Given the description of an element on the screen output the (x, y) to click on. 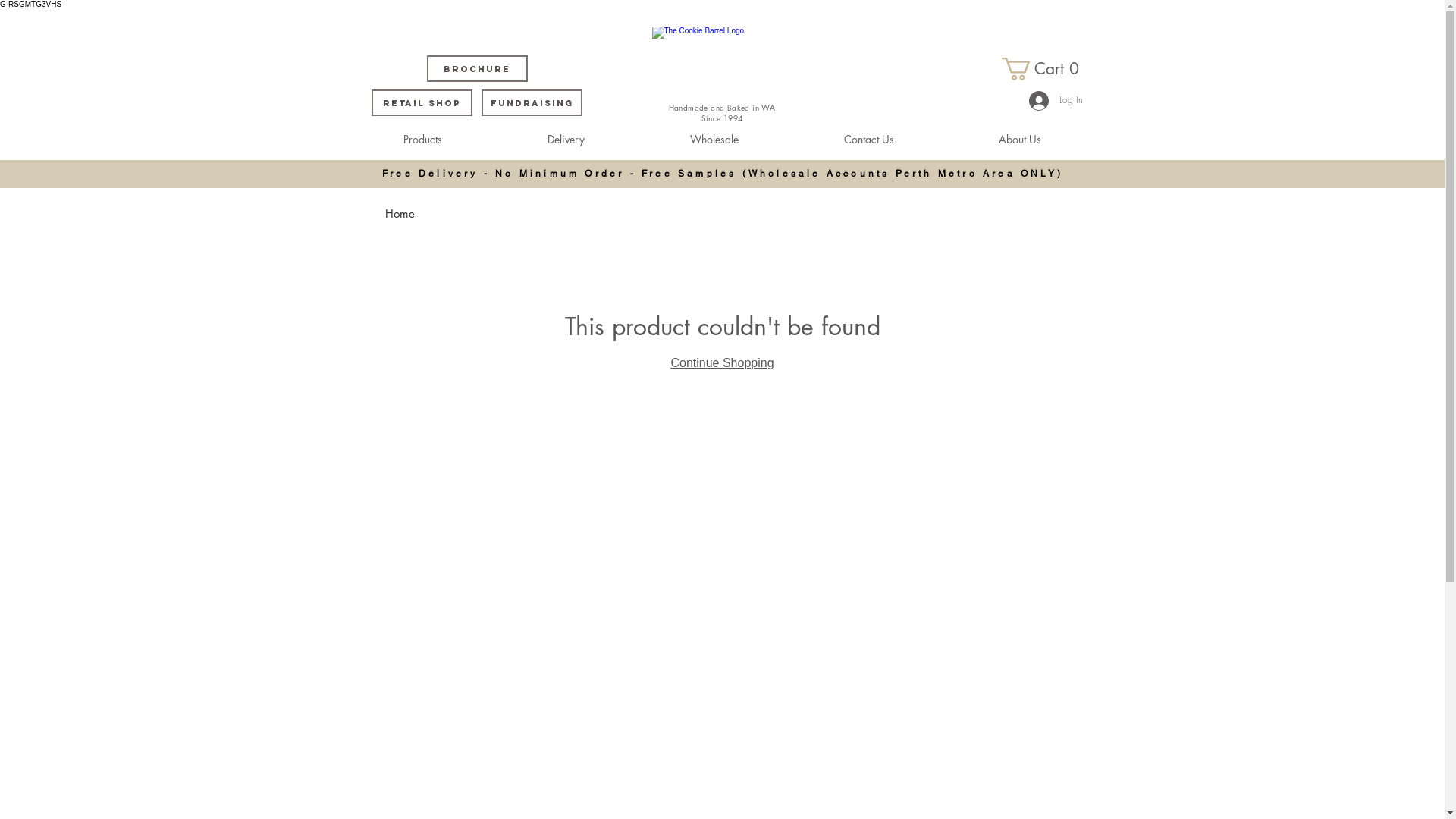
Continue Shopping Element type: text (721, 362)
Delivery Element type: text (565, 139)
About Us Element type: text (1019, 139)
Cart
0 Element type: text (1043, 68)
FUNDRAISING Element type: text (530, 102)
Home Element type: text (399, 213)
RETAIL SHOP Element type: text (421, 102)
Log In Element type: text (1054, 100)
Wholesale Element type: text (713, 139)
BROCHURE Element type: text (476, 68)
Contact Us Element type: text (868, 139)
Products Element type: text (422, 139)
